Given the description of an element on the screen output the (x, y) to click on. 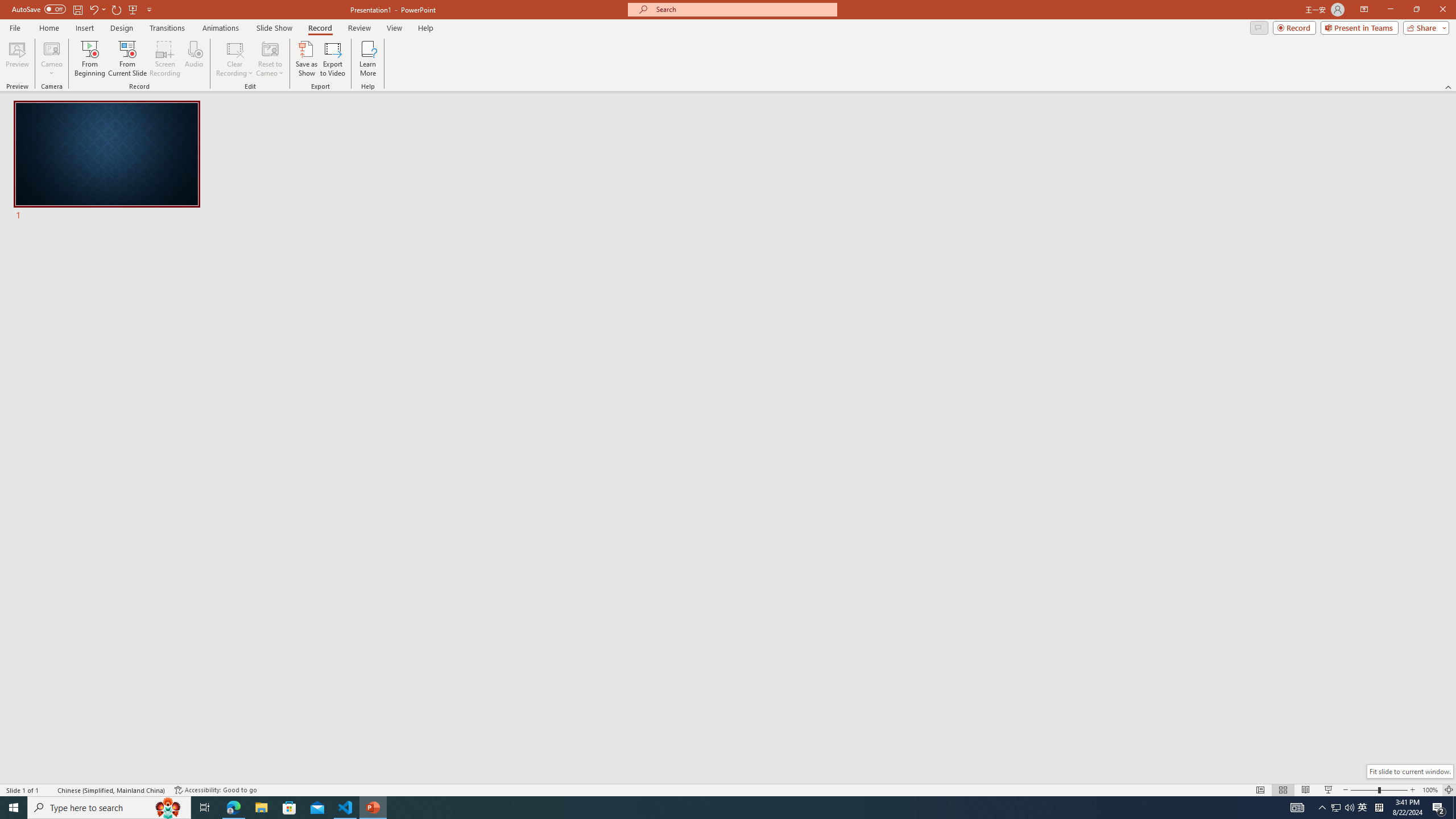
Spell Check  (49, 790)
Screen Recording (165, 58)
Reset to Cameo (269, 58)
